Given the description of an element on the screen output the (x, y) to click on. 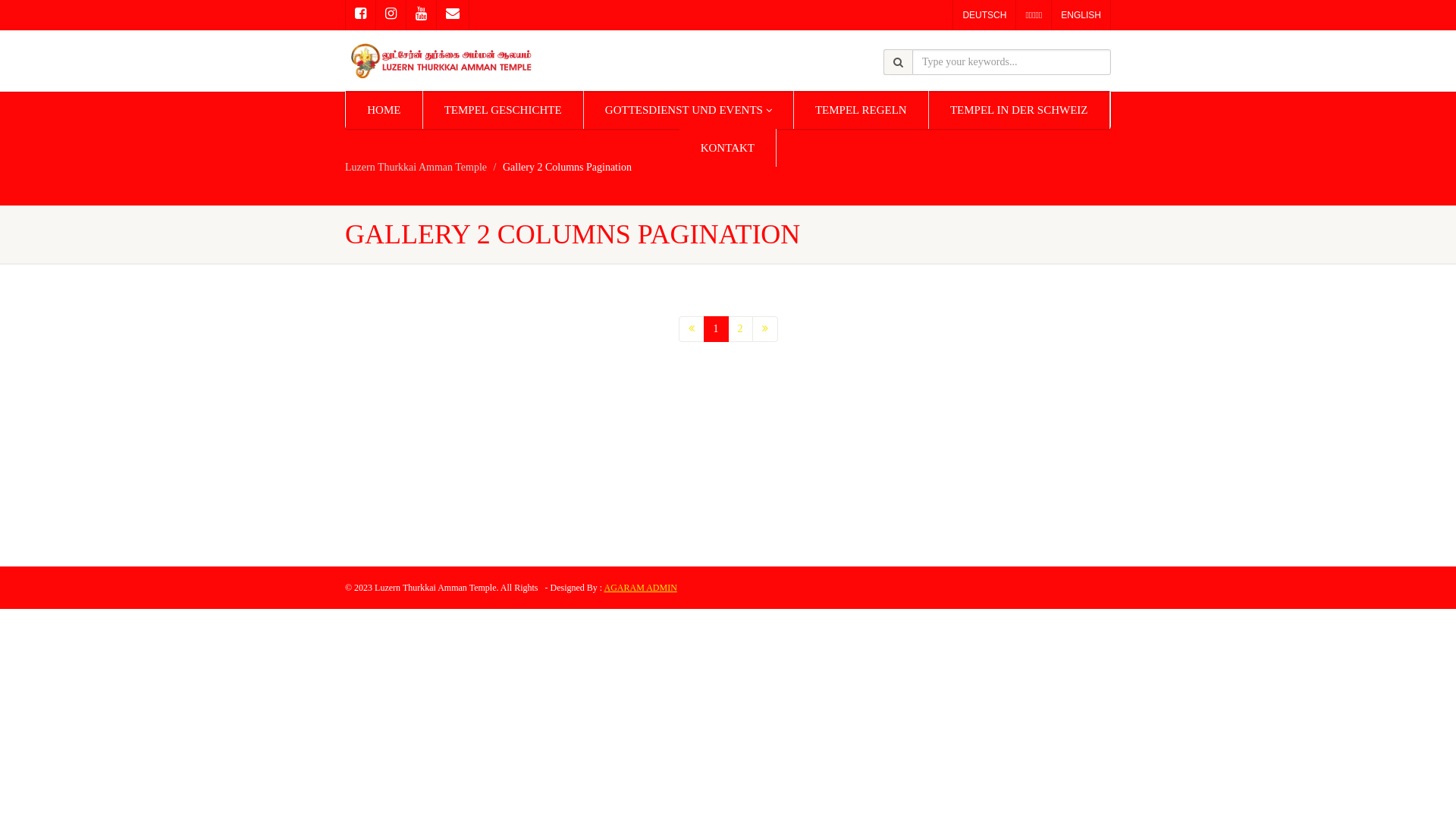
GOTTESDIENST UND EVENTS Element type: text (688, 109)
Last Element type: hover (765, 329)
DEUTSCH Element type: text (984, 15)
TEMPEL REGELN Element type: text (860, 109)
AGARAM ADMIN Element type: text (639, 587)
ENGLISH Element type: text (1080, 15)
TEMPEL GESCHICHTE Element type: text (503, 109)
KONTAKT Element type: text (728, 147)
2 Element type: text (740, 329)
Logo Element type: hover (465, 60)
HOME Element type: text (383, 109)
TEMPEL IN DER SCHWEIZ Element type: text (1019, 109)
First Element type: hover (690, 329)
Luzern Thurkkai Amman Temple Element type: text (415, 166)
